Given the description of an element on the screen output the (x, y) to click on. 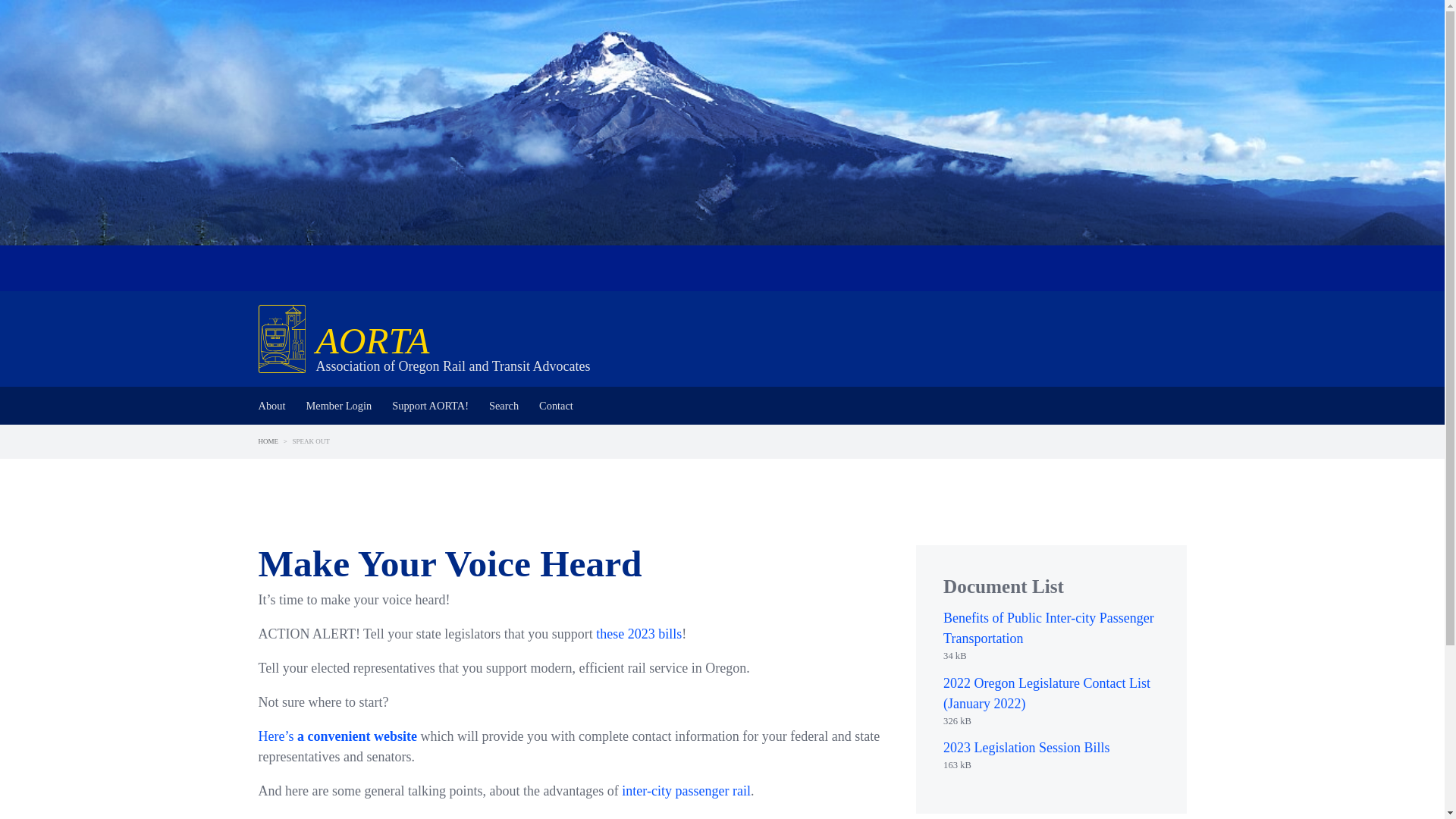
pdf (1050, 656)
inter-city passenger rail (686, 790)
pdf (1050, 765)
2023 Legislation Session Bills (1026, 747)
Member Login (338, 405)
Support AORTA! (429, 405)
HOME (268, 441)
Contact (555, 405)
Search (504, 405)
Benefits of Public Inter-city Passenger Transportation (1048, 628)
